Given the description of an element on the screen output the (x, y) to click on. 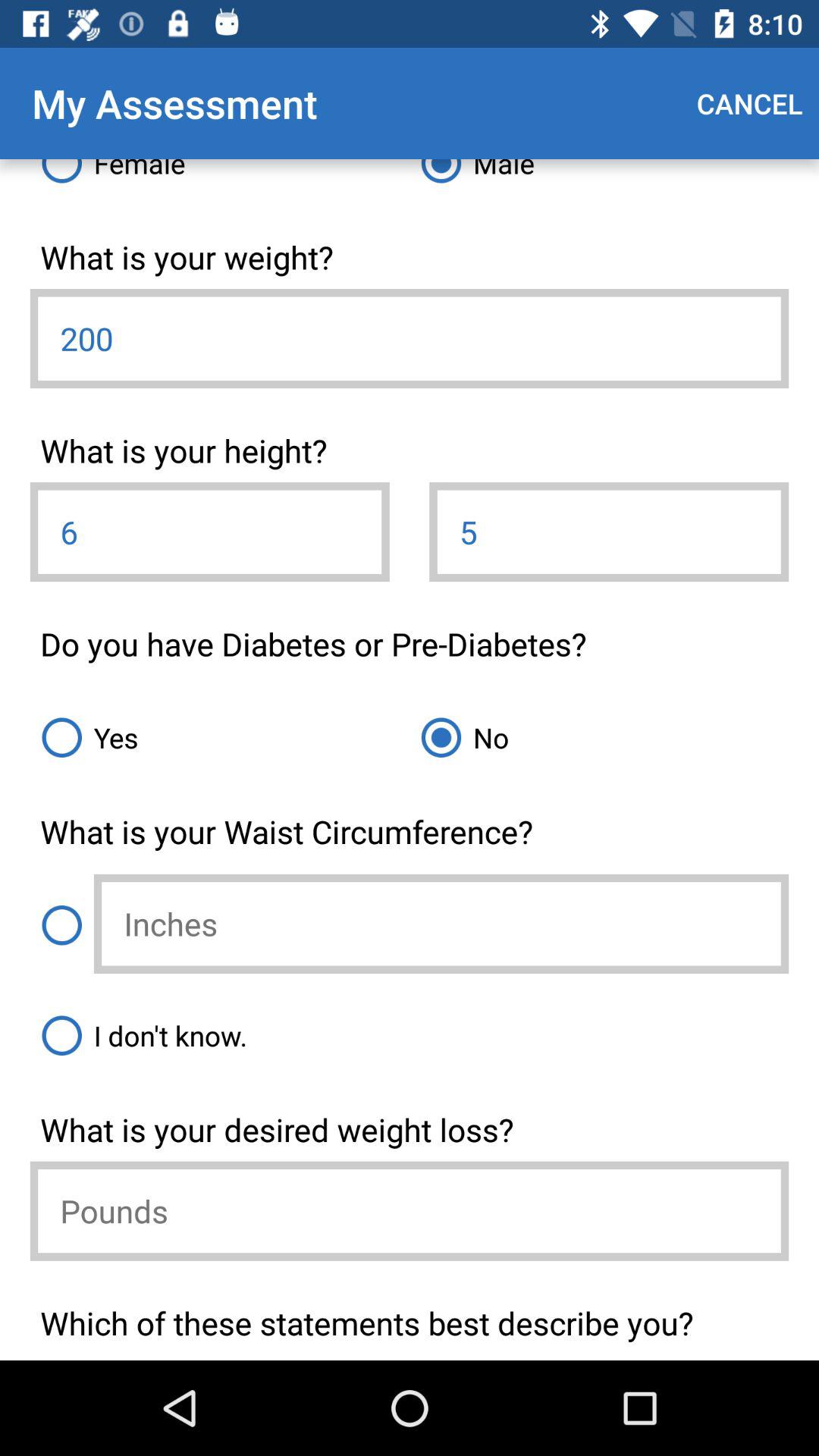
open the item above the what is your icon (409, 1035)
